Given the description of an element on the screen output the (x, y) to click on. 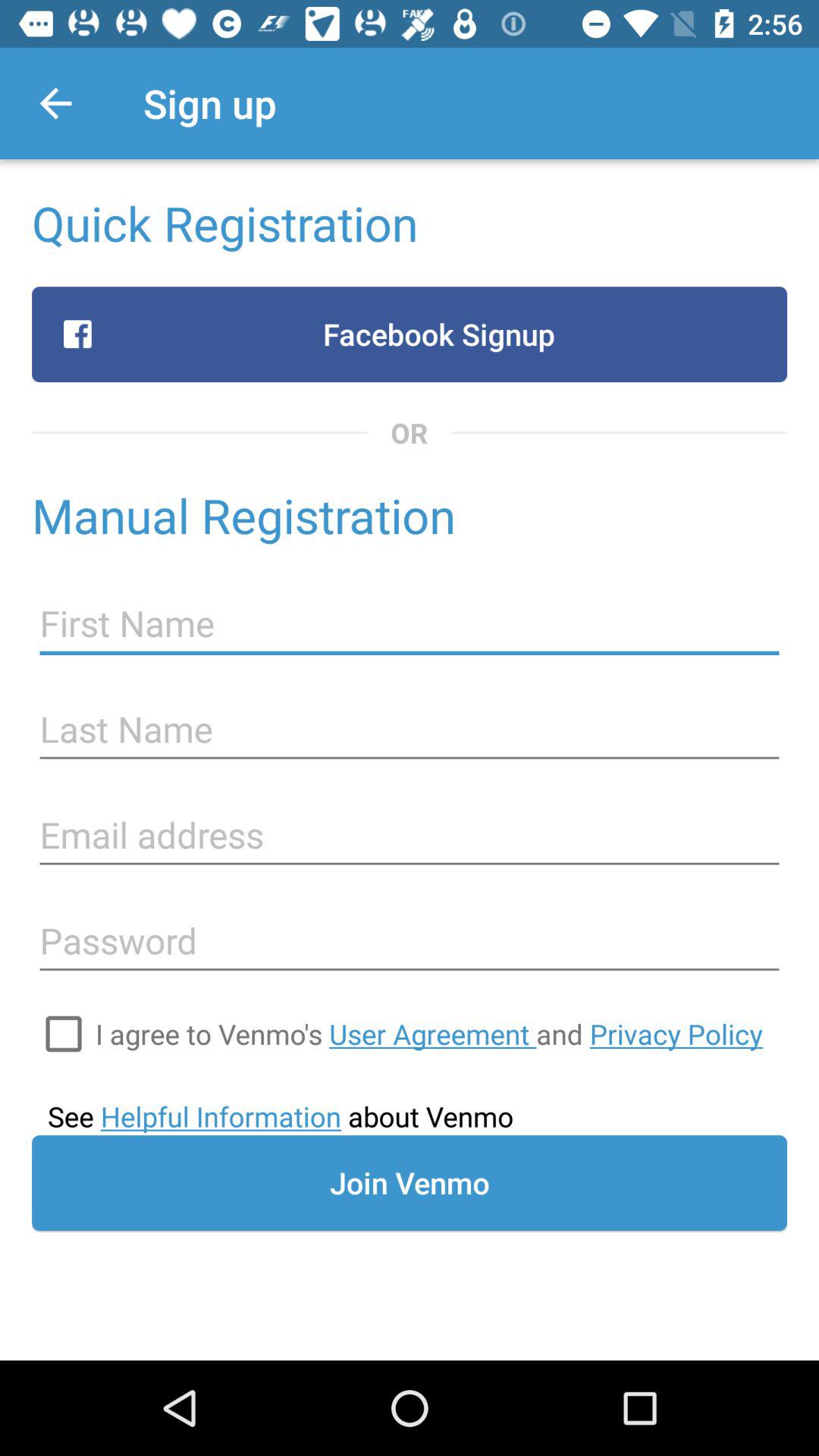
launch the item below quick registration item (409, 334)
